Given the description of an element on the screen output the (x, y) to click on. 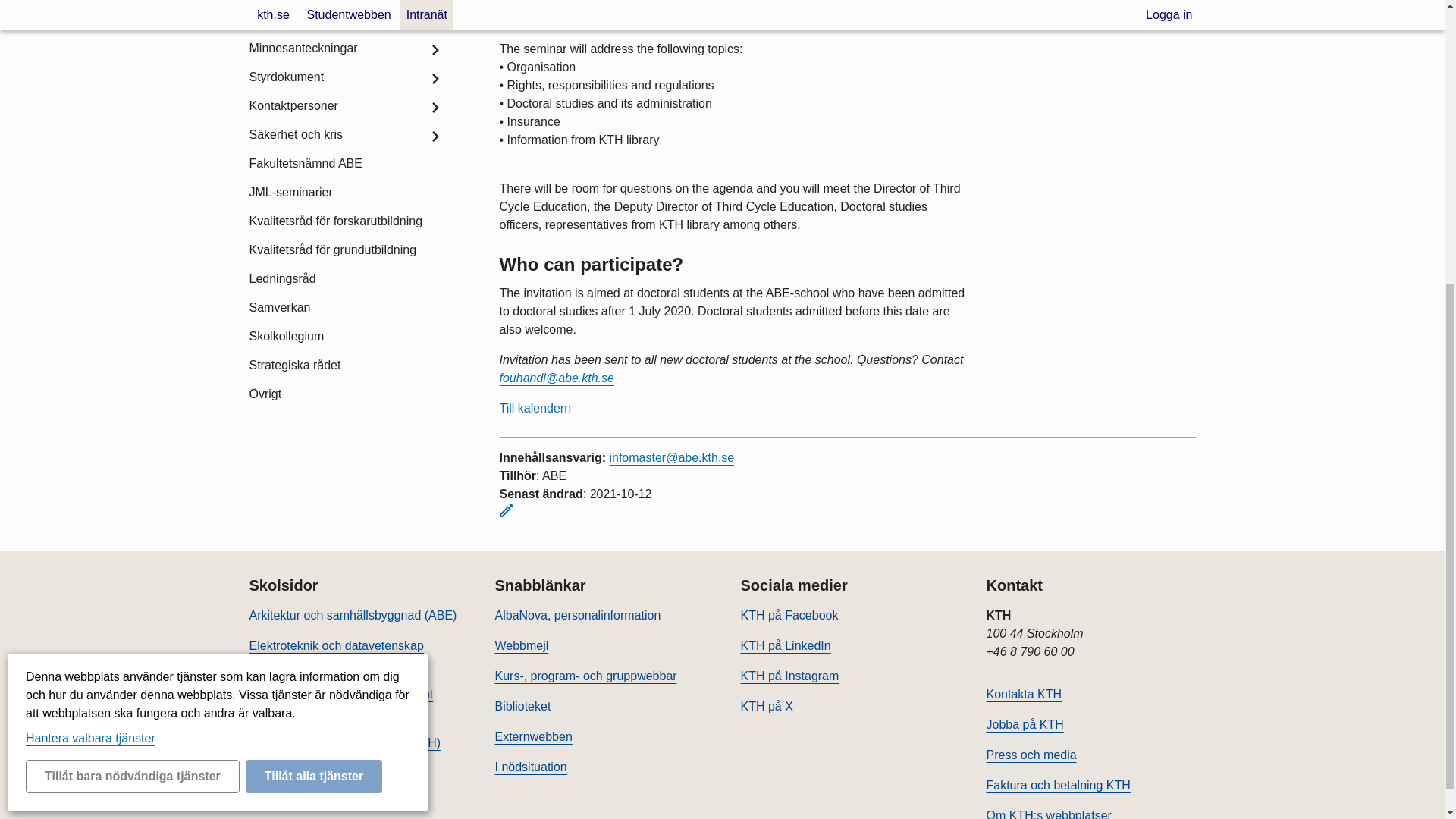
Redigera denna sida (505, 509)
